Given the description of an element on the screen output the (x, y) to click on. 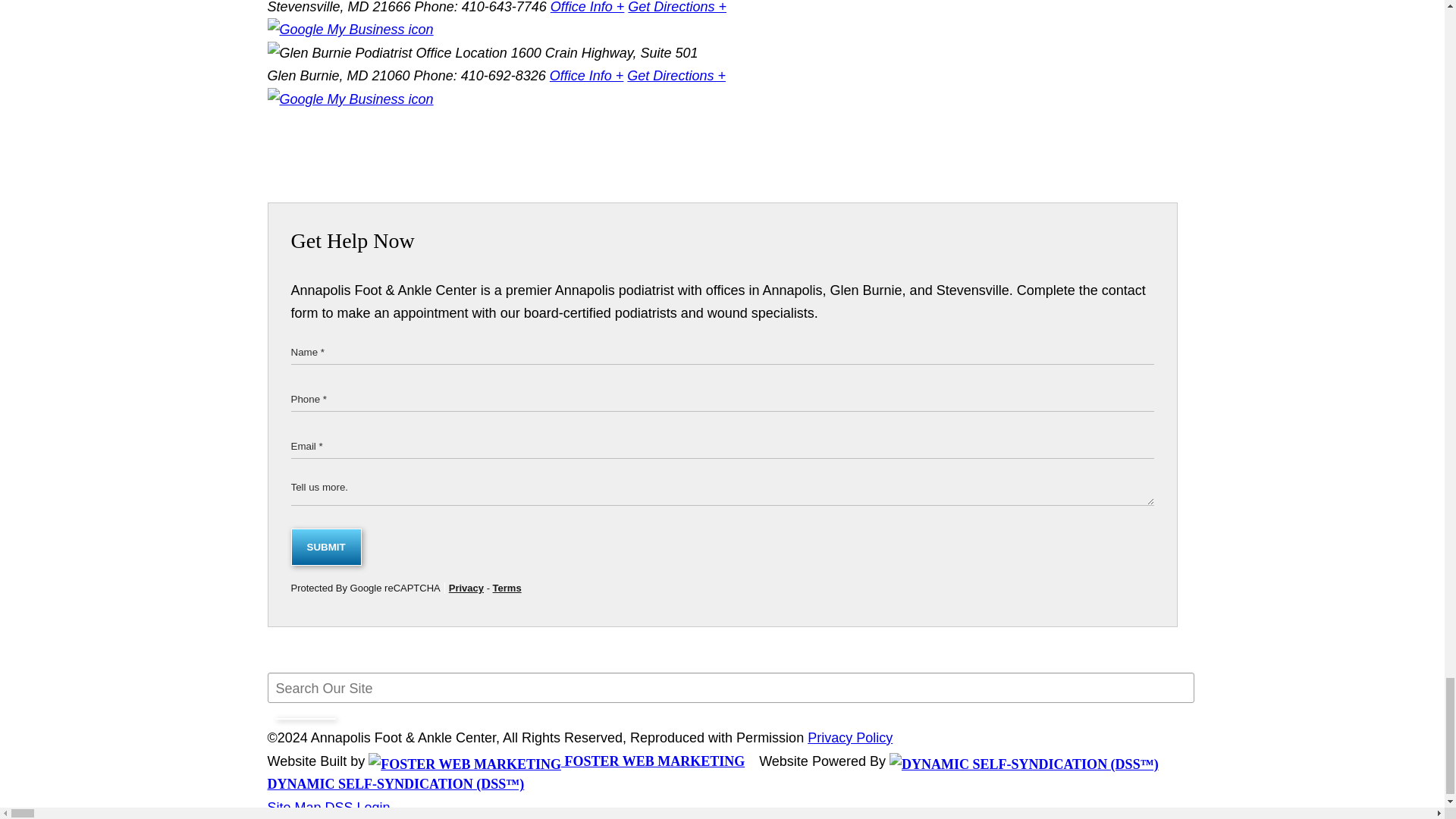
Search (304, 718)
